Given the description of an element on the screen output the (x, y) to click on. 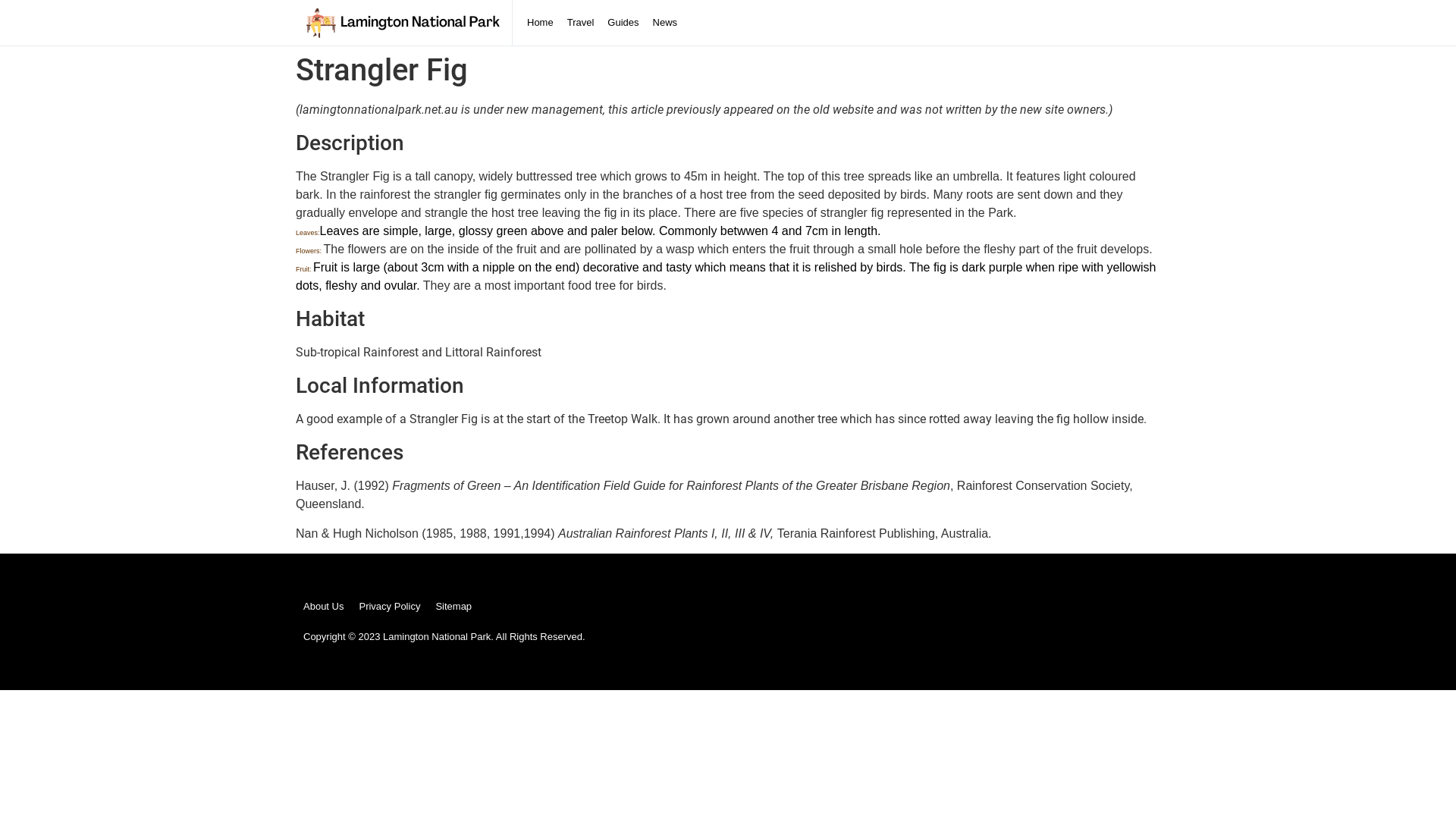
Home Element type: text (540, 22)
Guides Element type: text (622, 22)
About Us Element type: text (323, 606)
News Element type: text (665, 22)
Travel Element type: text (580, 22)
Sitemap Element type: text (453, 606)
Privacy Policy Element type: text (389, 606)
